Given the description of an element on the screen output the (x, y) to click on. 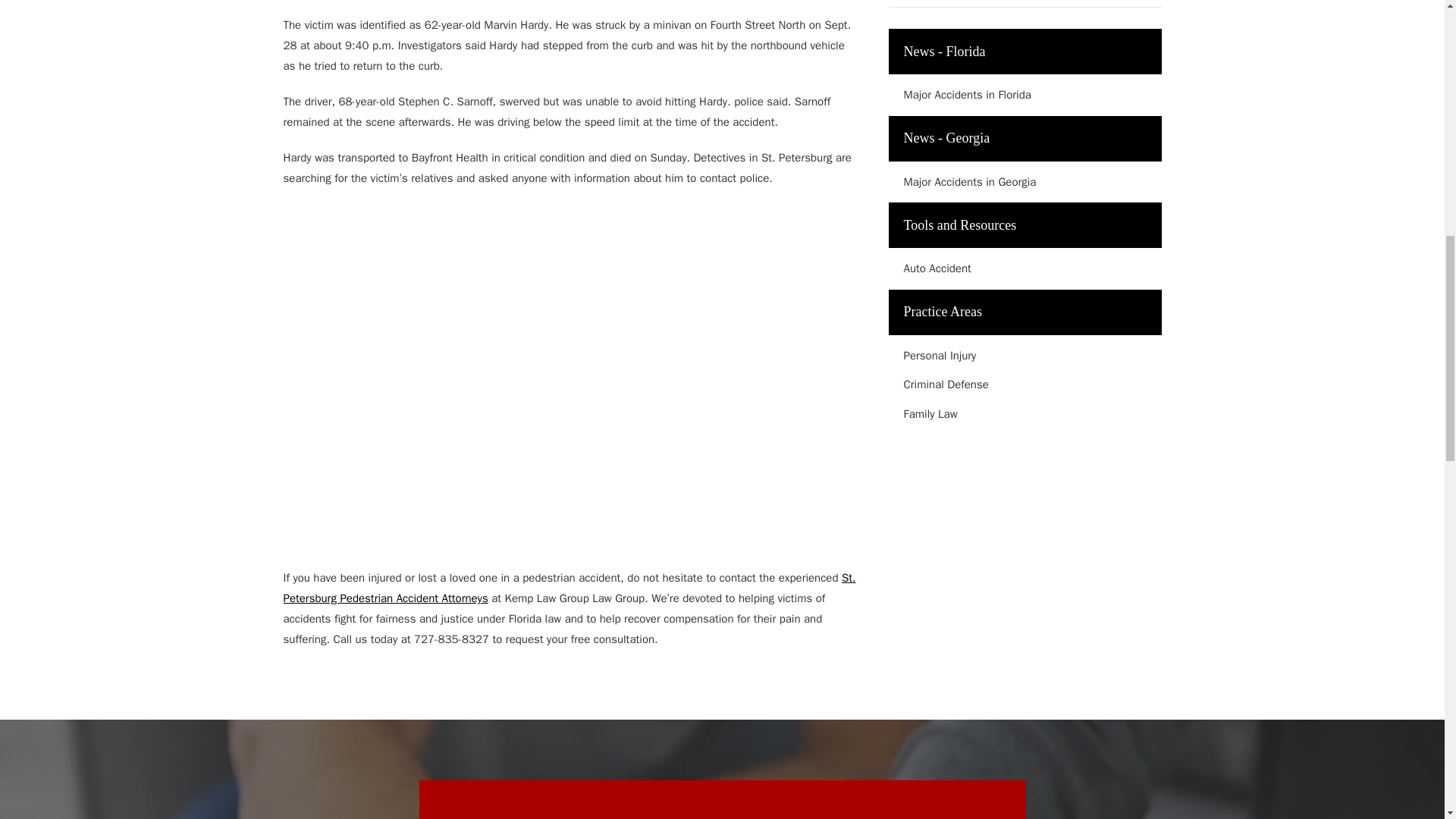
News - Florida (1024, 51)
St. Petersburg Pedestrian Accident Attorneys (569, 587)
